Given the description of an element on the screen output the (x, y) to click on. 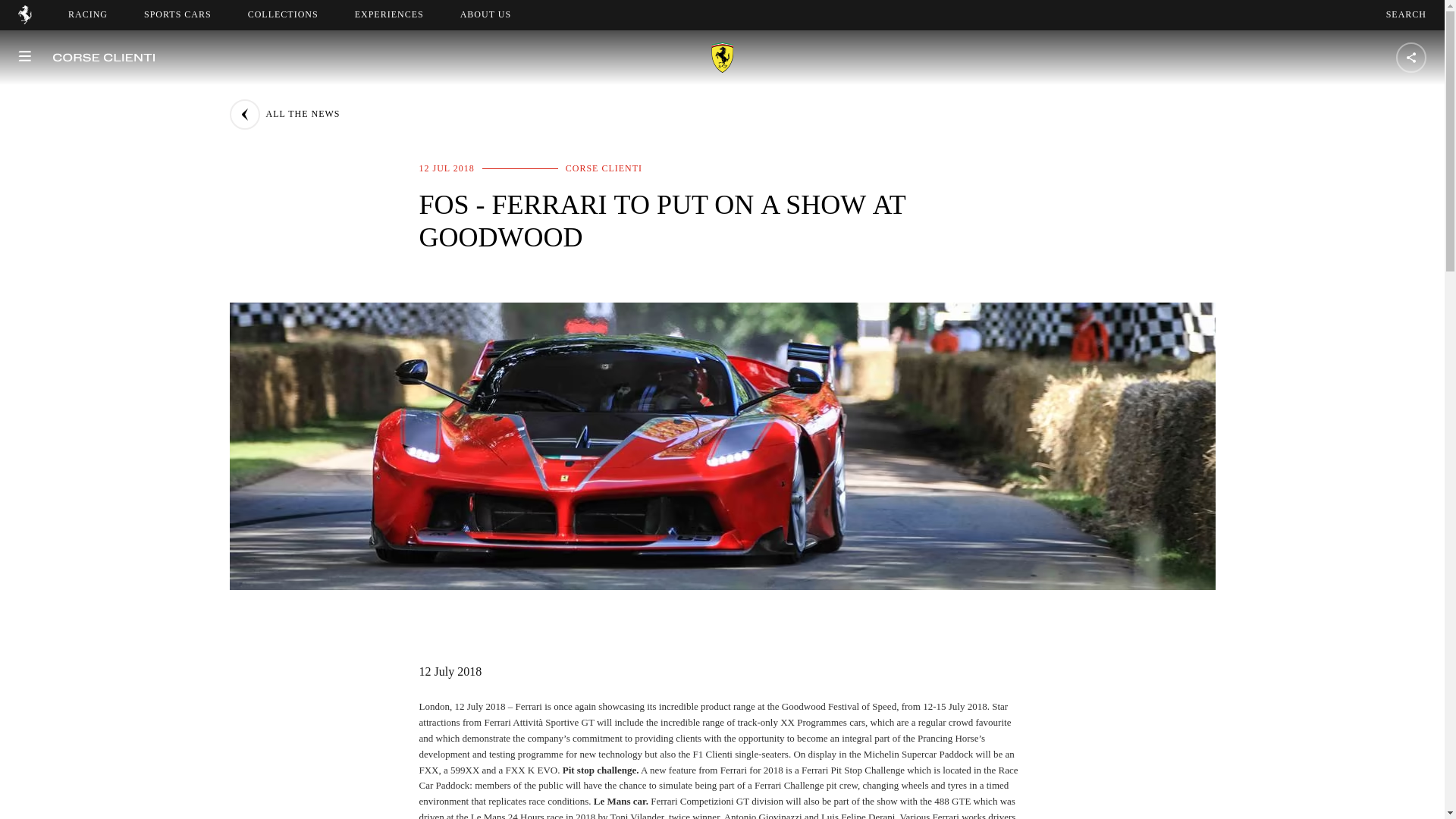
ABOUT US (485, 14)
ALL THE NEWS (283, 114)
Ferrari logo (24, 19)
SPORTS CARS (177, 14)
SEARCH (499, 14)
COLLECTIONS (1406, 14)
EXPERIENCES (282, 14)
RACING (389, 14)
